Given the description of an element on the screen output the (x, y) to click on. 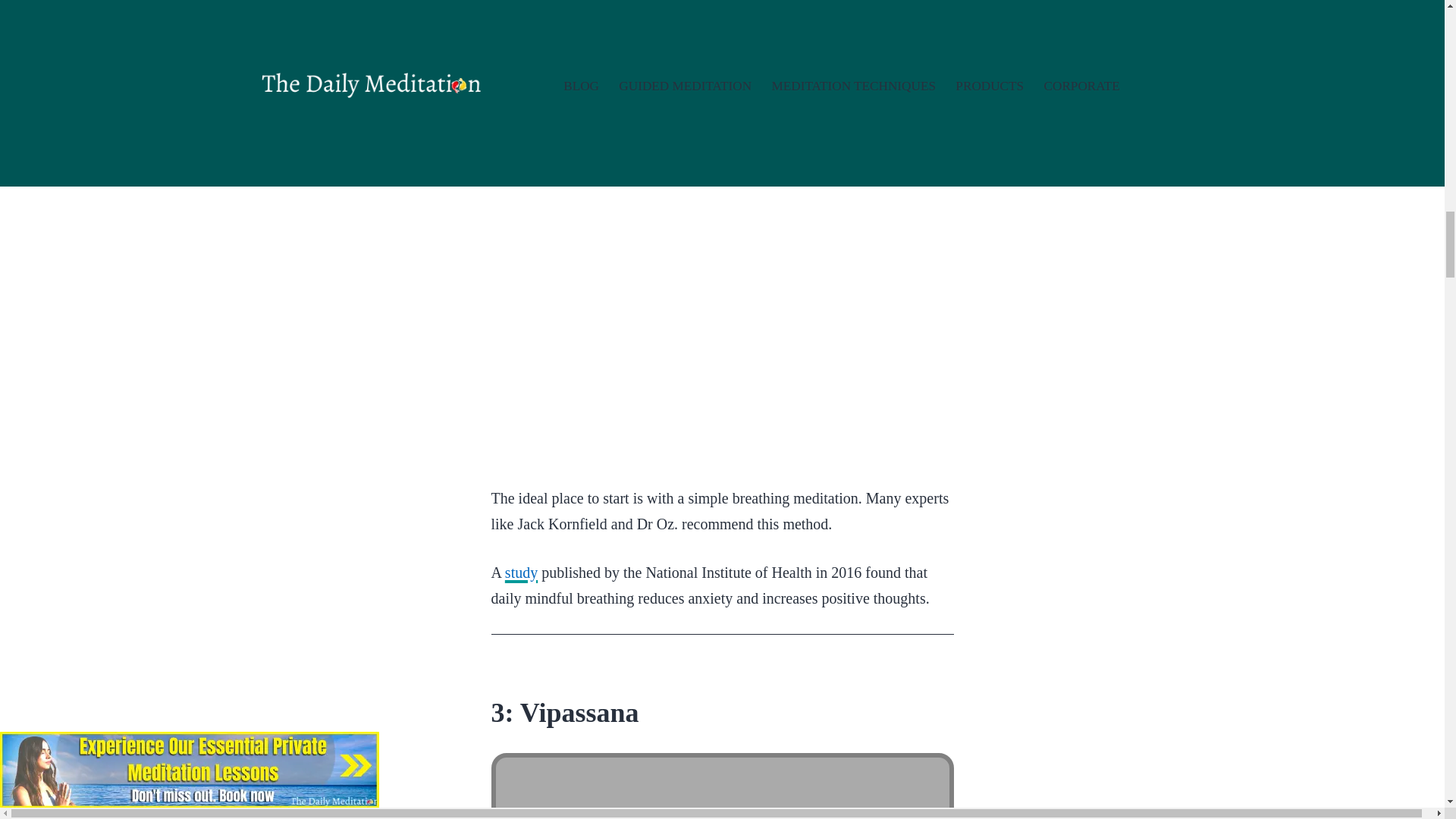
study (521, 572)
